Given the description of an element on the screen output the (x, y) to click on. 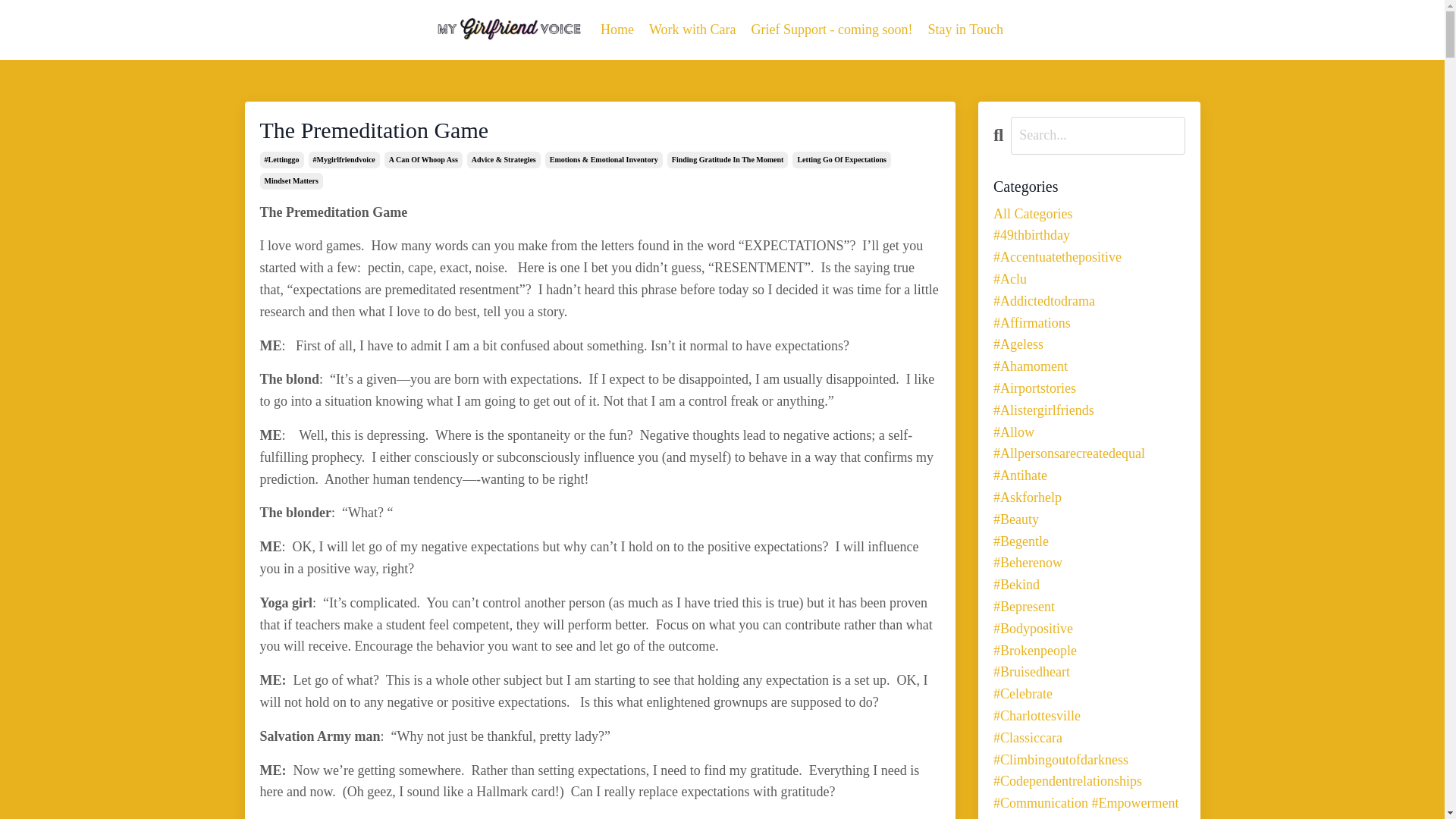
Home (616, 29)
Finding Gratitude In The Moment (727, 159)
The Premeditation Game (599, 130)
Stay in Touch (965, 29)
Letting Go Of Expectations (841, 159)
Mindset Matters (290, 180)
All Categories (1088, 214)
Grief Support - coming soon! (831, 29)
Work with Cara (692, 29)
A Can Of Whoop Ass (423, 159)
